Given the description of an element on the screen output the (x, y) to click on. 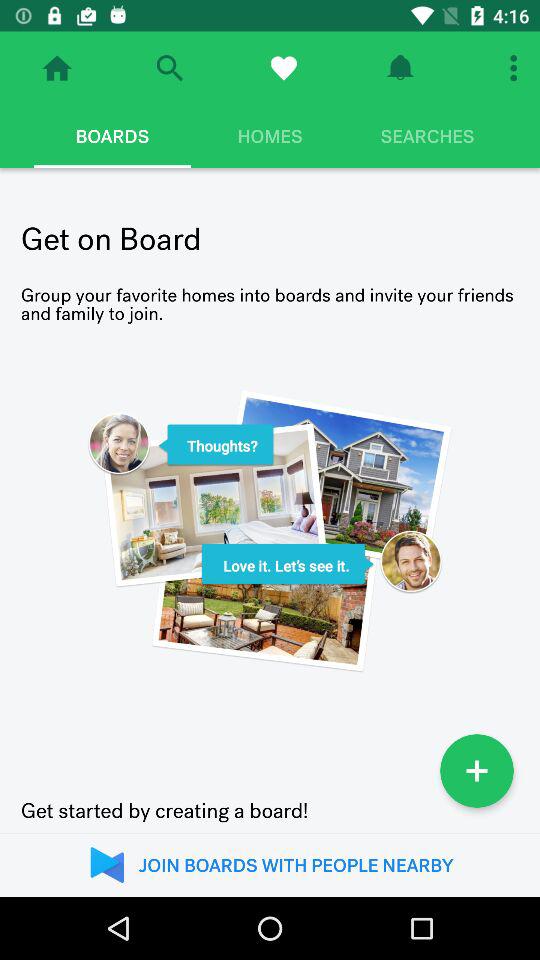
search (169, 68)
